Given the description of an element on the screen output the (x, y) to click on. 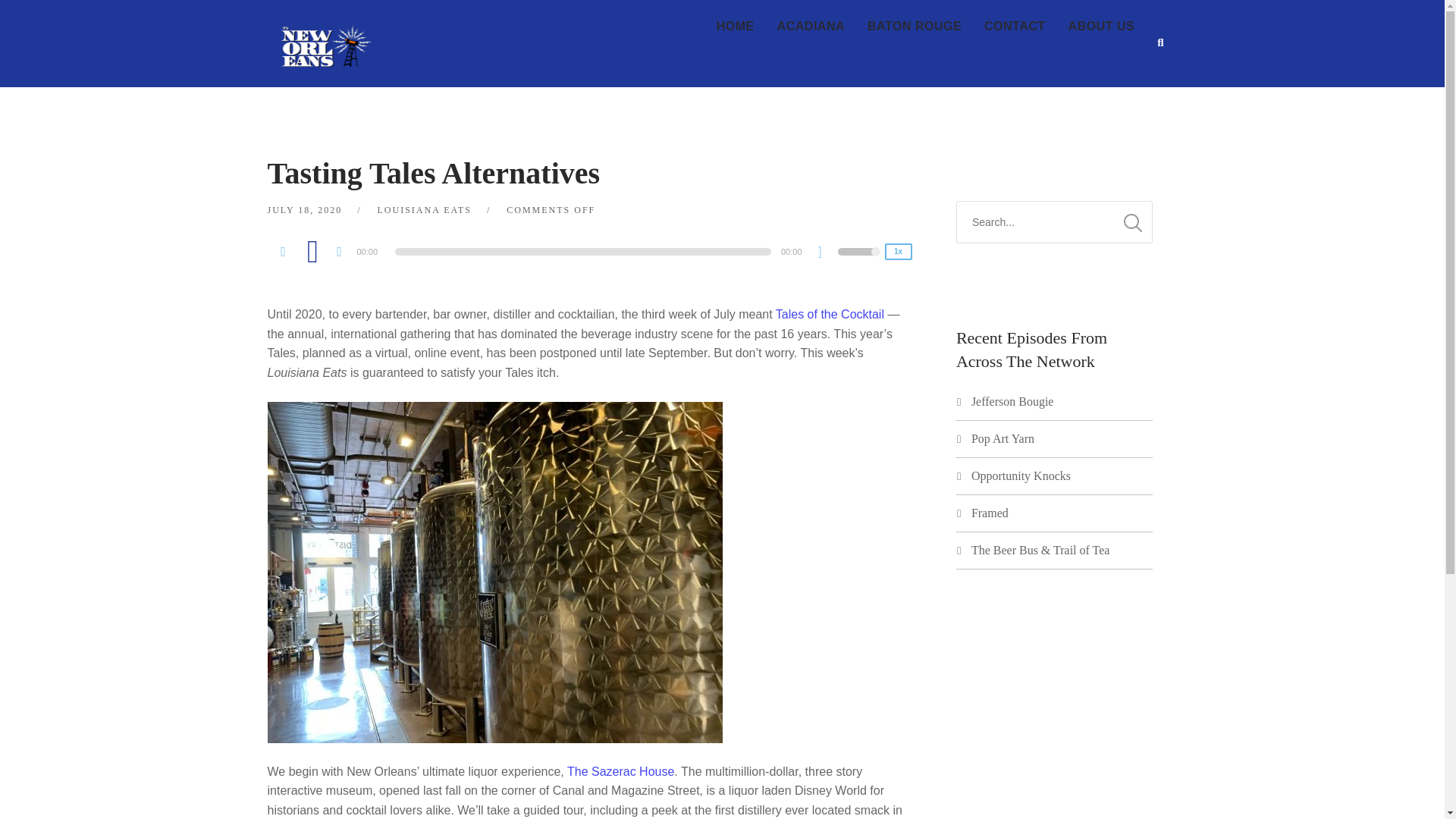
HOME (734, 26)
ACADIANA (810, 26)
Jefferson Bougie (1012, 400)
Submit (32, 22)
Mute (824, 253)
CONTACT (1014, 26)
Tales of the Cocktail (829, 314)
It's New Orleans (323, 33)
The Sazerac House (620, 771)
Opportunity Knocks (1020, 475)
